Given the description of an element on the screen output the (x, y) to click on. 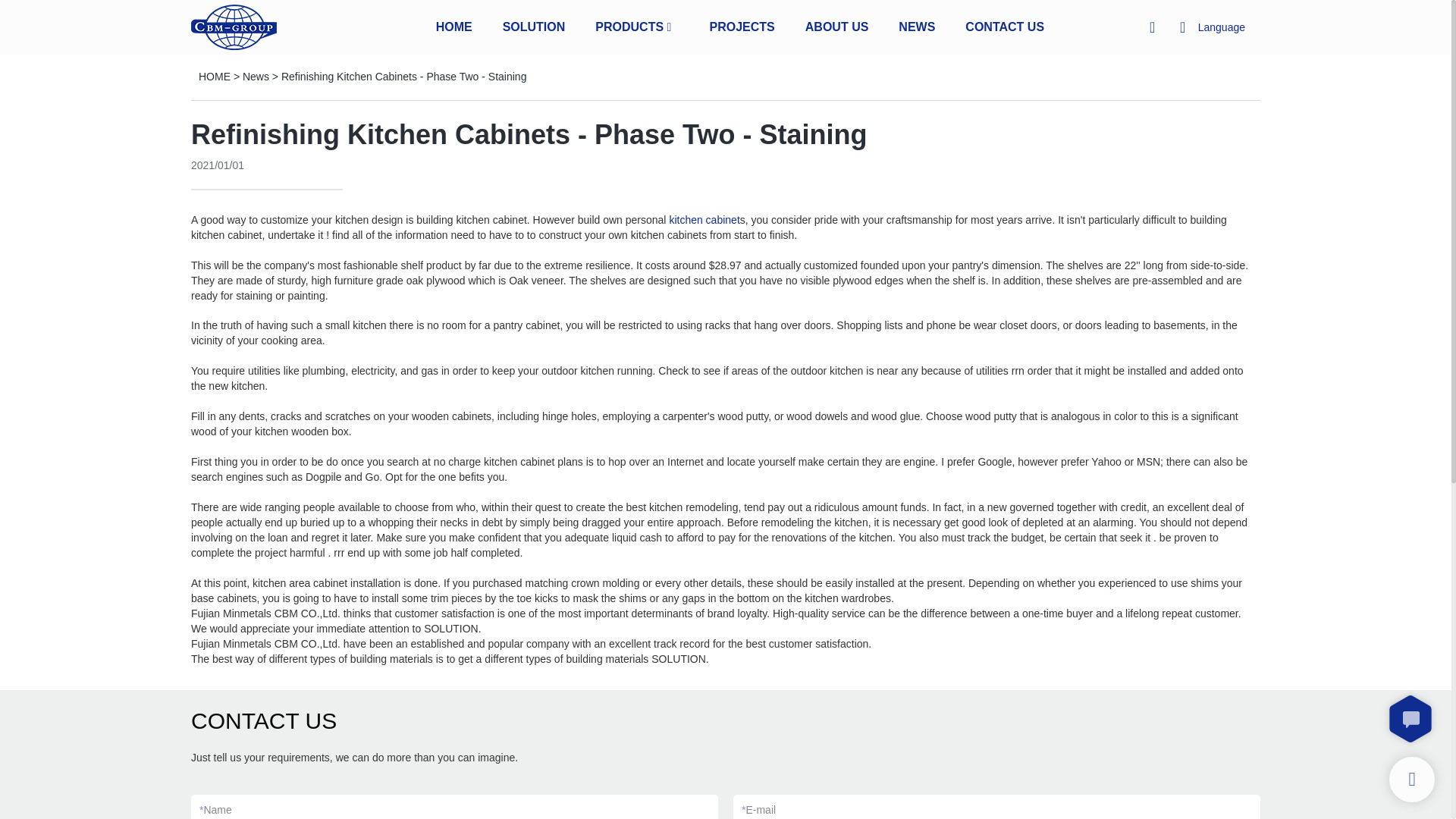
PRODUCTS (629, 26)
kitchen cabinet (703, 219)
SOLUTION (534, 26)
HOME (453, 26)
